Given the description of an element on the screen output the (x, y) to click on. 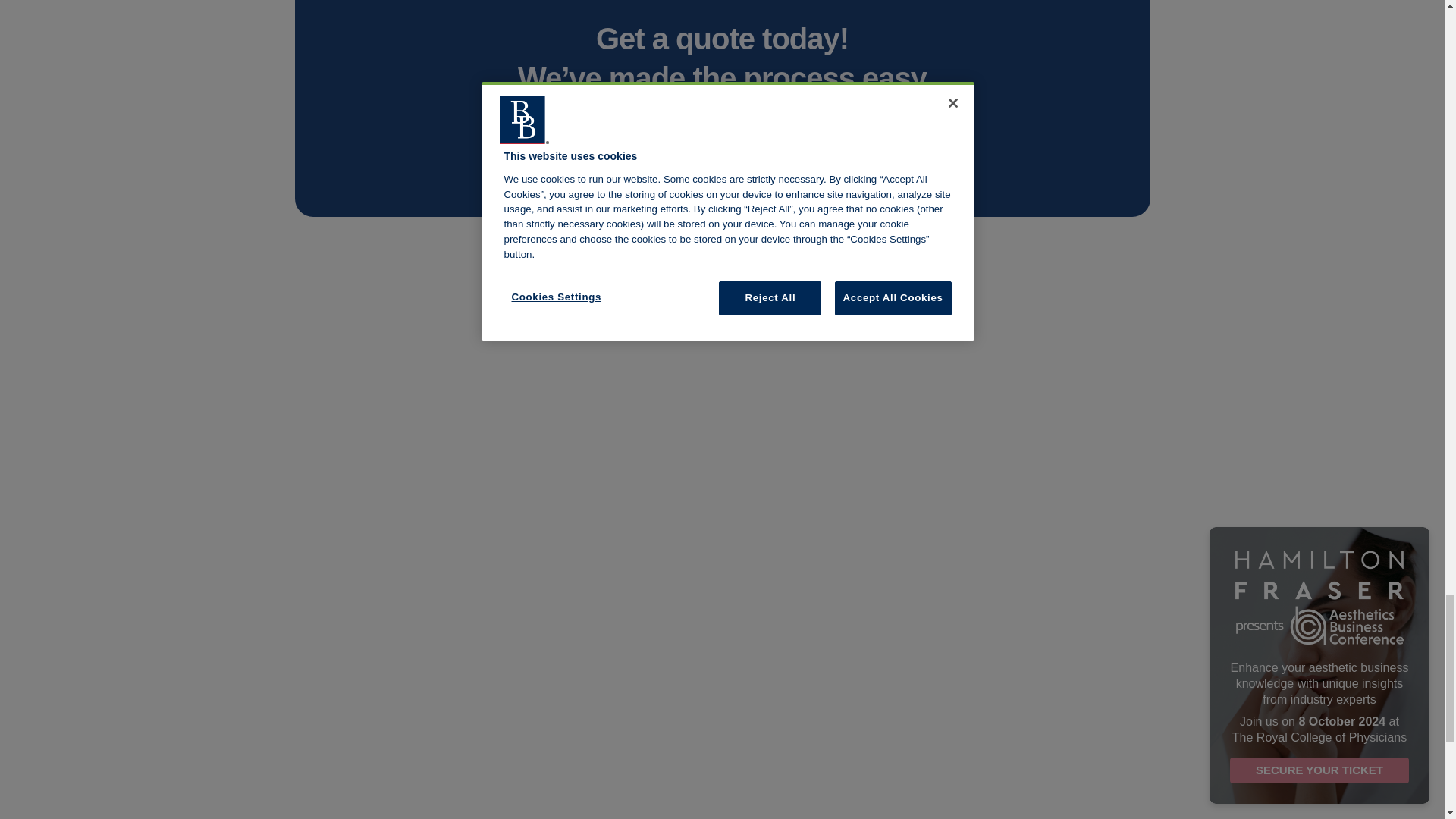
GET A QUOTE (722, 147)
